Given the description of an element on the screen output the (x, y) to click on. 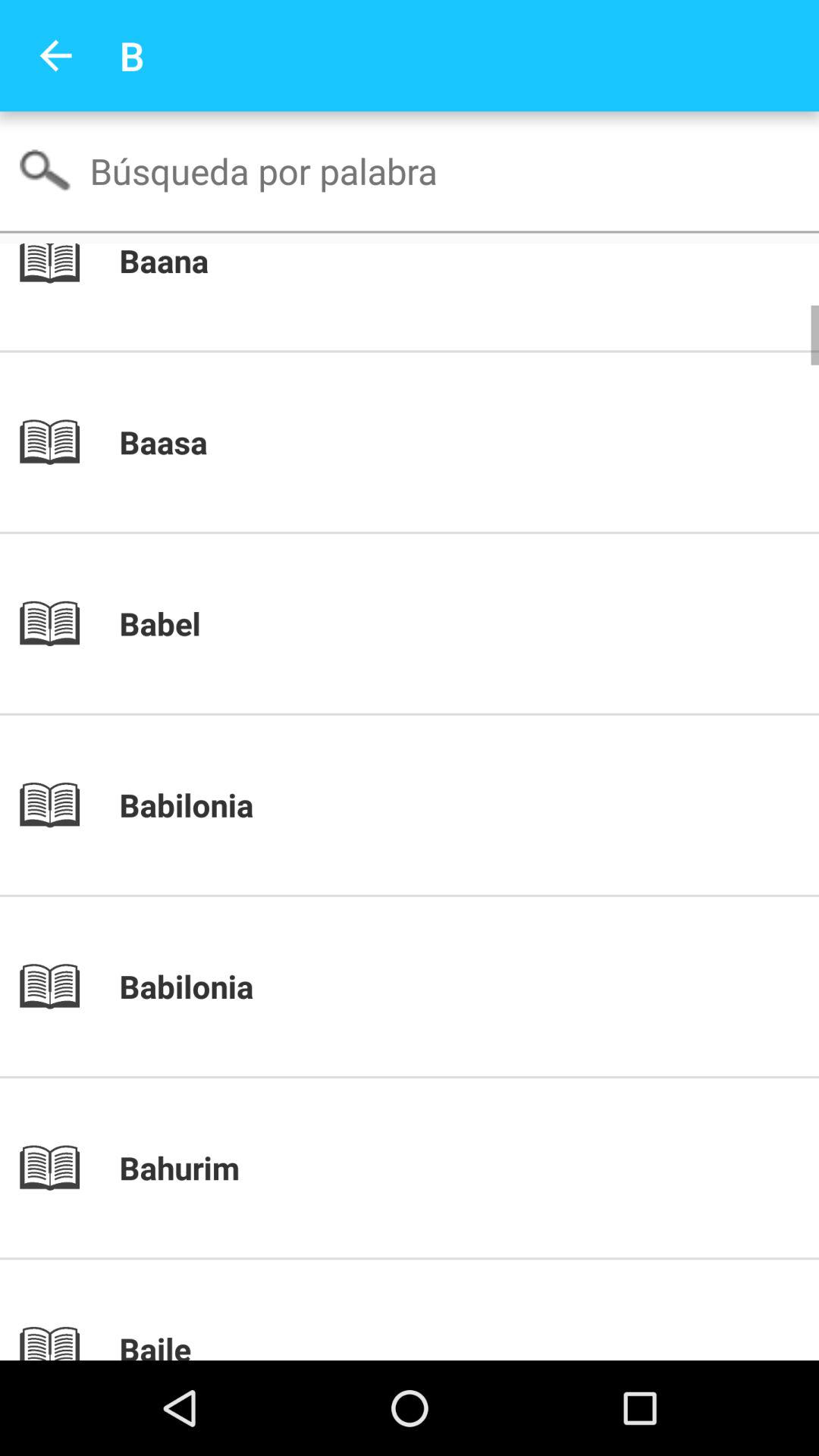
scroll until baasa icon (435, 442)
